Given the description of an element on the screen output the (x, y) to click on. 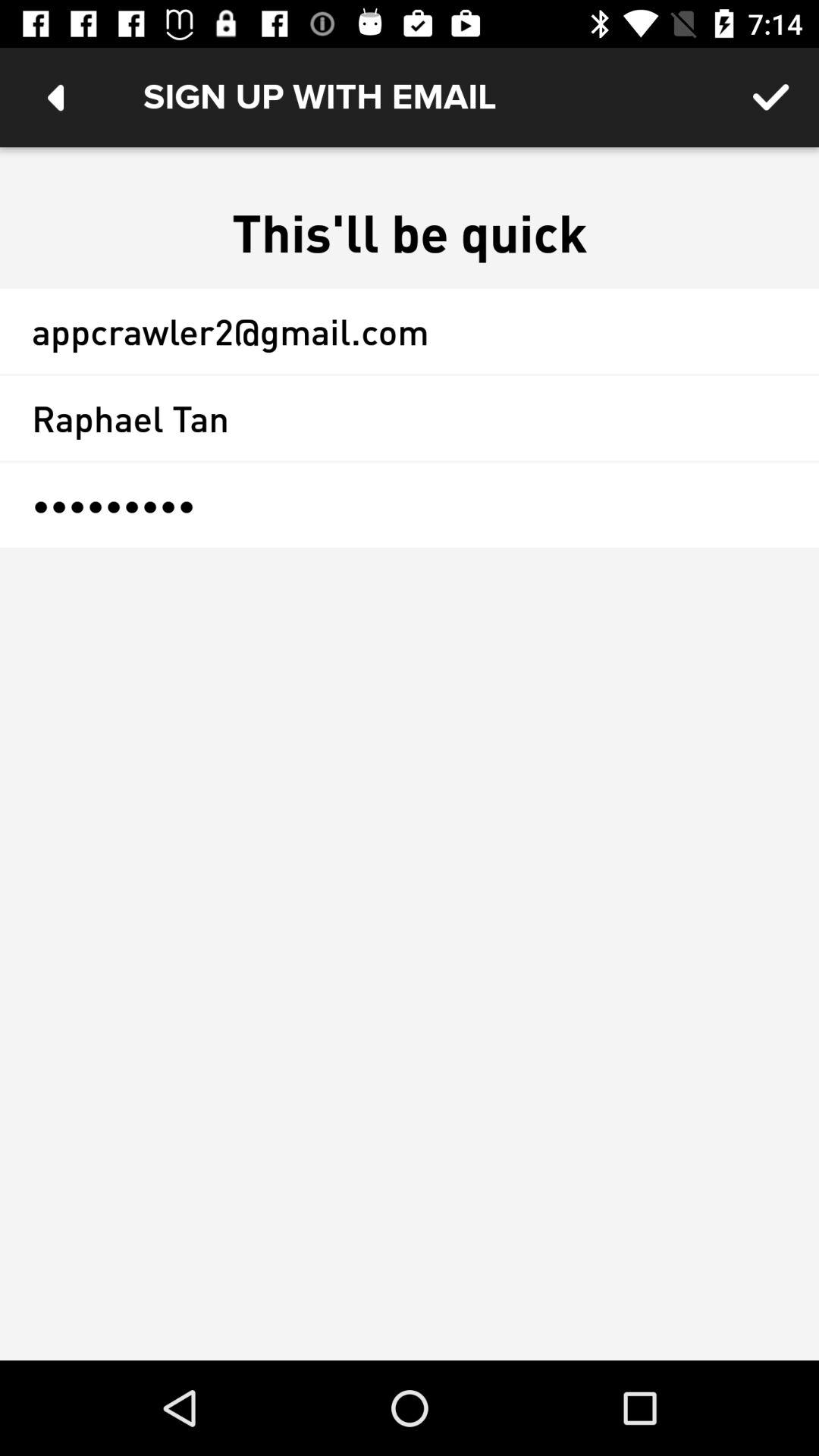
jump until the raphael tan item (409, 417)
